Given the description of an element on the screen output the (x, y) to click on. 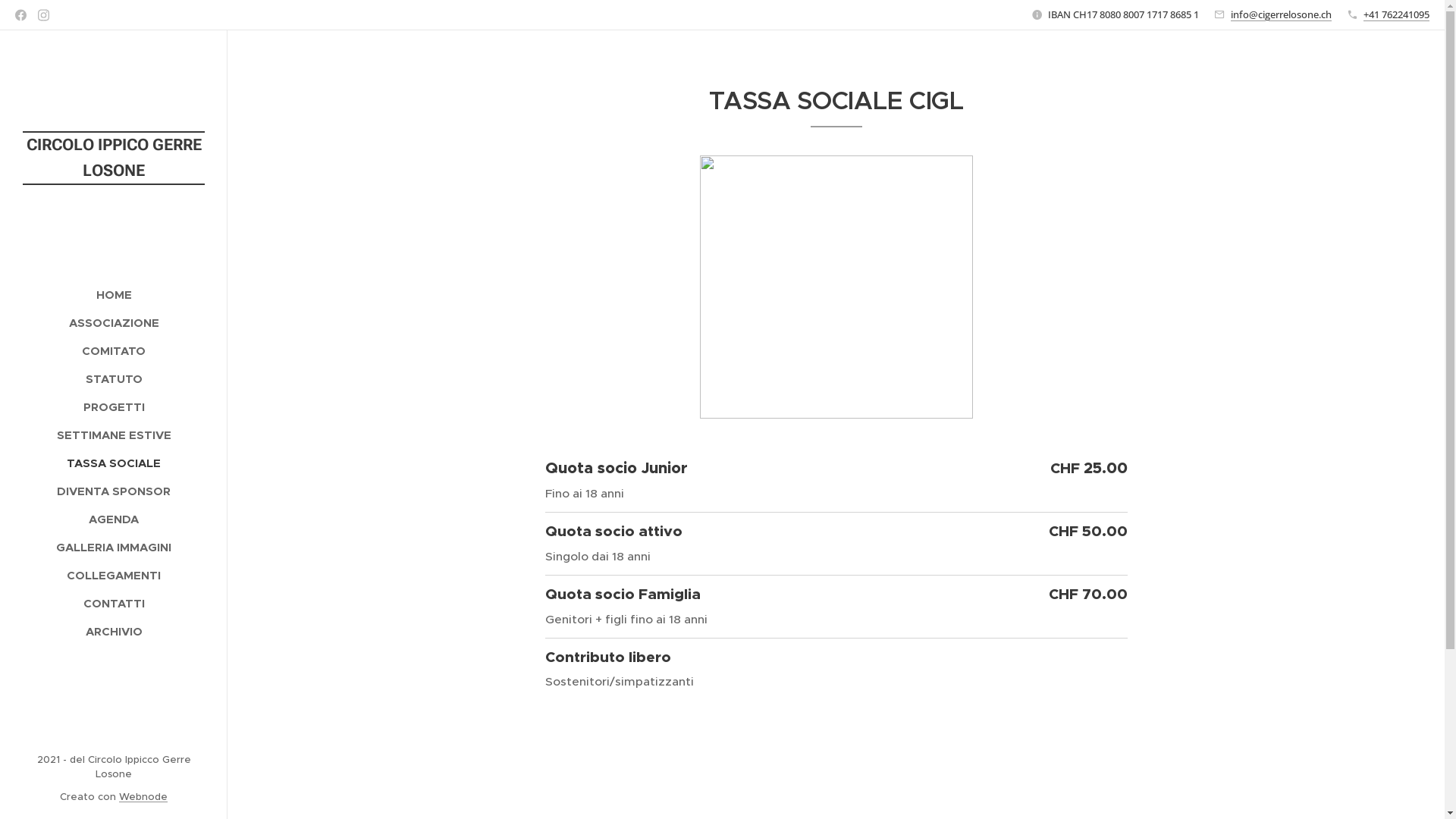
HOME Element type: text (113, 294)
TASSA SOCIALE Element type: text (113, 462)
GALLERIA IMMAGINI Element type: text (113, 546)
Webnode Element type: text (143, 796)
STATUTO Element type: text (113, 378)
SETTIMANE ESTIVE Element type: text (113, 434)
AGENDA Element type: text (113, 518)
COLLEGAMENTI Element type: text (113, 574)
COMITATO Element type: text (113, 350)
info@cigerrelosone.ch Element type: text (1280, 14)
PROGETTI Element type: text (113, 406)
ARCHIVIO Element type: text (113, 631)
ASSOCIAZIONE Element type: text (113, 322)
CONTATTI Element type: text (113, 602)
DIVENTA SPONSOR Element type: text (113, 490)
Instagram Element type: hover (43, 15)
+41 762241095 Element type: text (1396, 14)
CIRCOLO IPPICO GERRE LOSONE Element type: text (113, 122)
Facebook Element type: hover (20, 15)
